Given the description of an element on the screen output the (x, y) to click on. 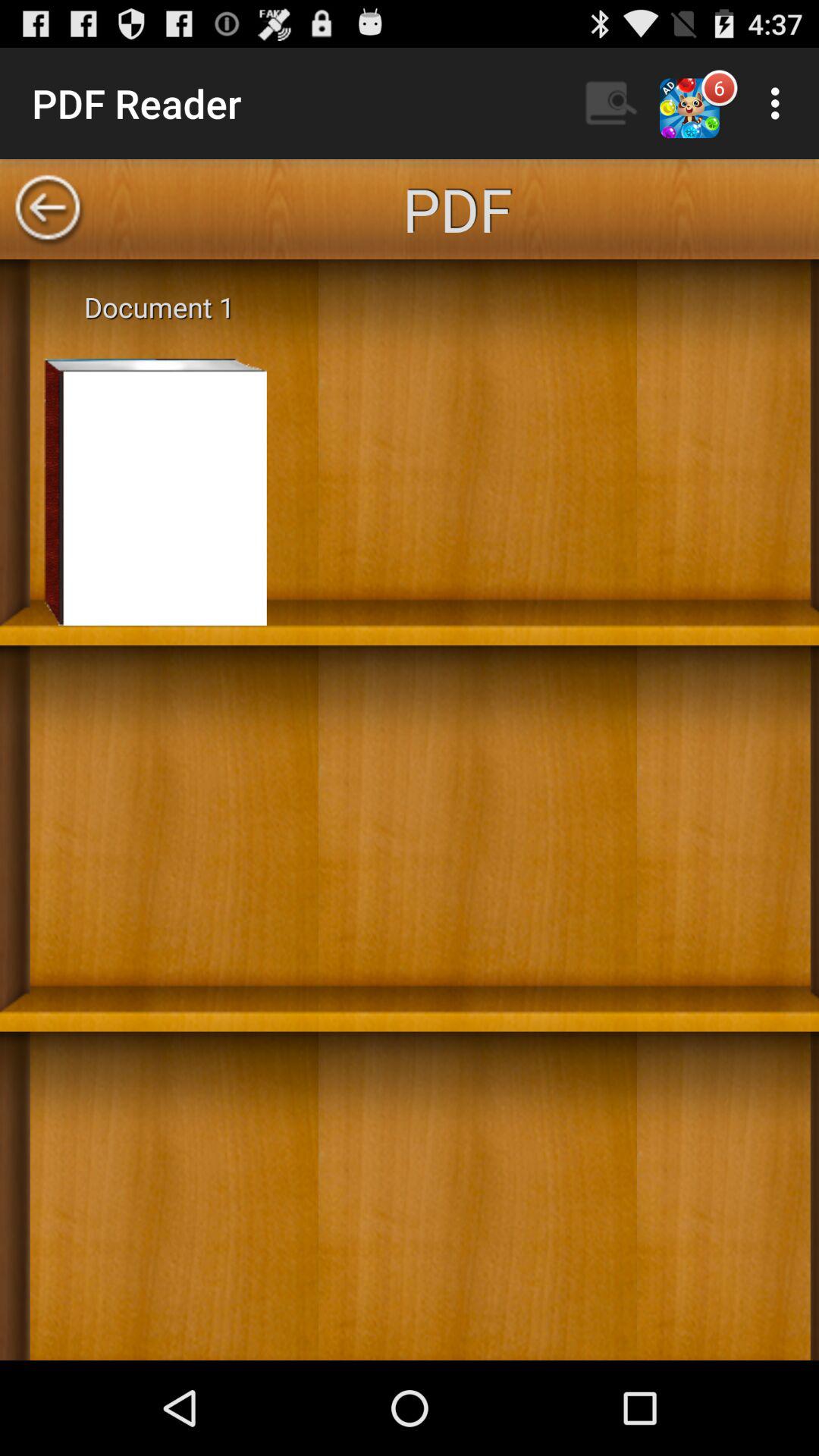
to return (47, 209)
